Given the description of an element on the screen output the (x, y) to click on. 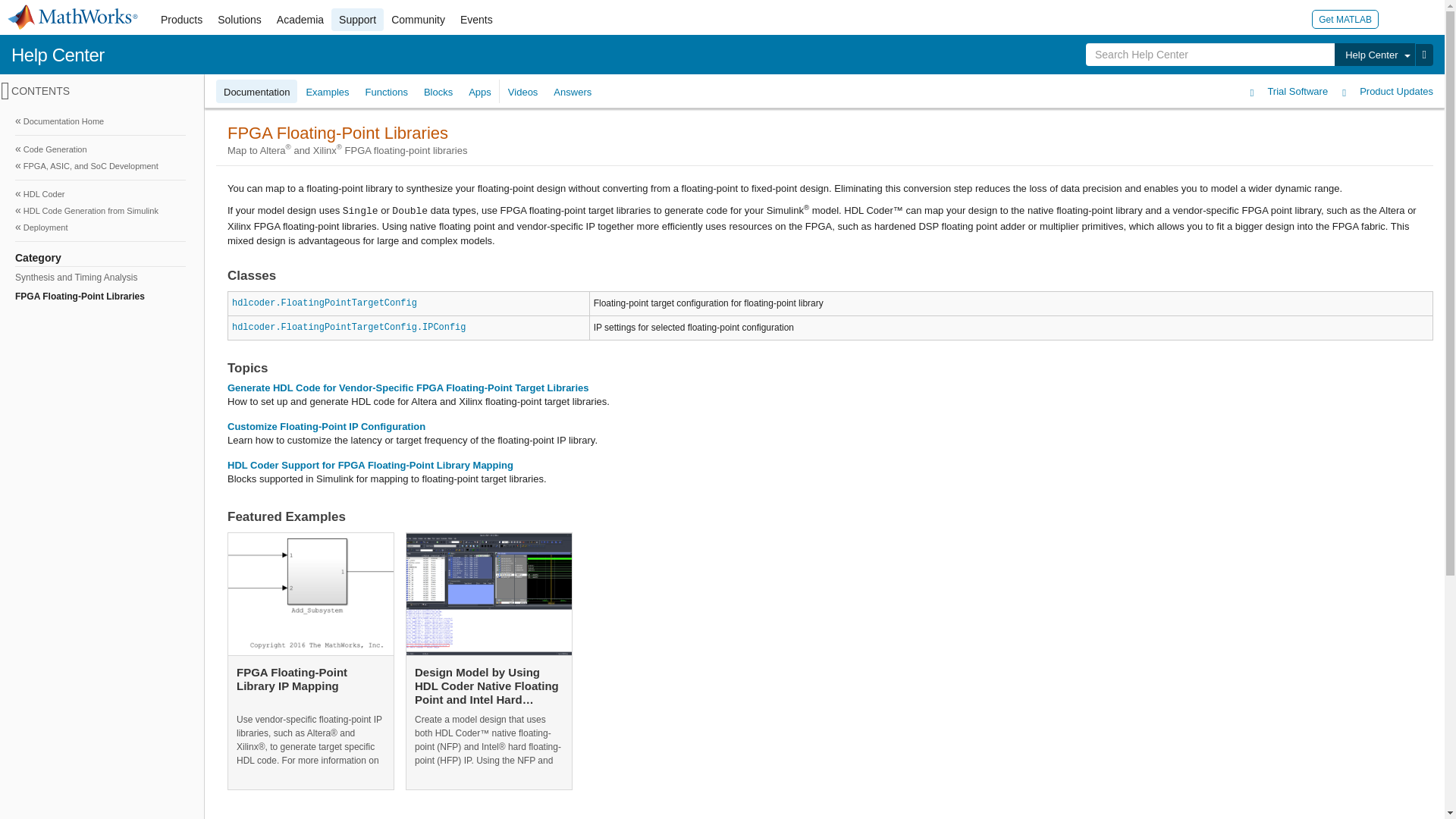
Help Center (57, 54)
Support (357, 19)
Deployment (100, 227)
Solutions (239, 19)
Products (180, 19)
Community (418, 19)
Documentation Home (100, 121)
HDL Coder (100, 193)
Synthesis and Timing Analysis (98, 277)
Off-Canvas Navigation Menu Toggle (5, 91)
Events (476, 19)
HDL Code Generation from Simulink (100, 210)
Help Center (1374, 54)
Academia (300, 19)
Get MATLAB (1344, 18)
